Given the description of an element on the screen output the (x, y) to click on. 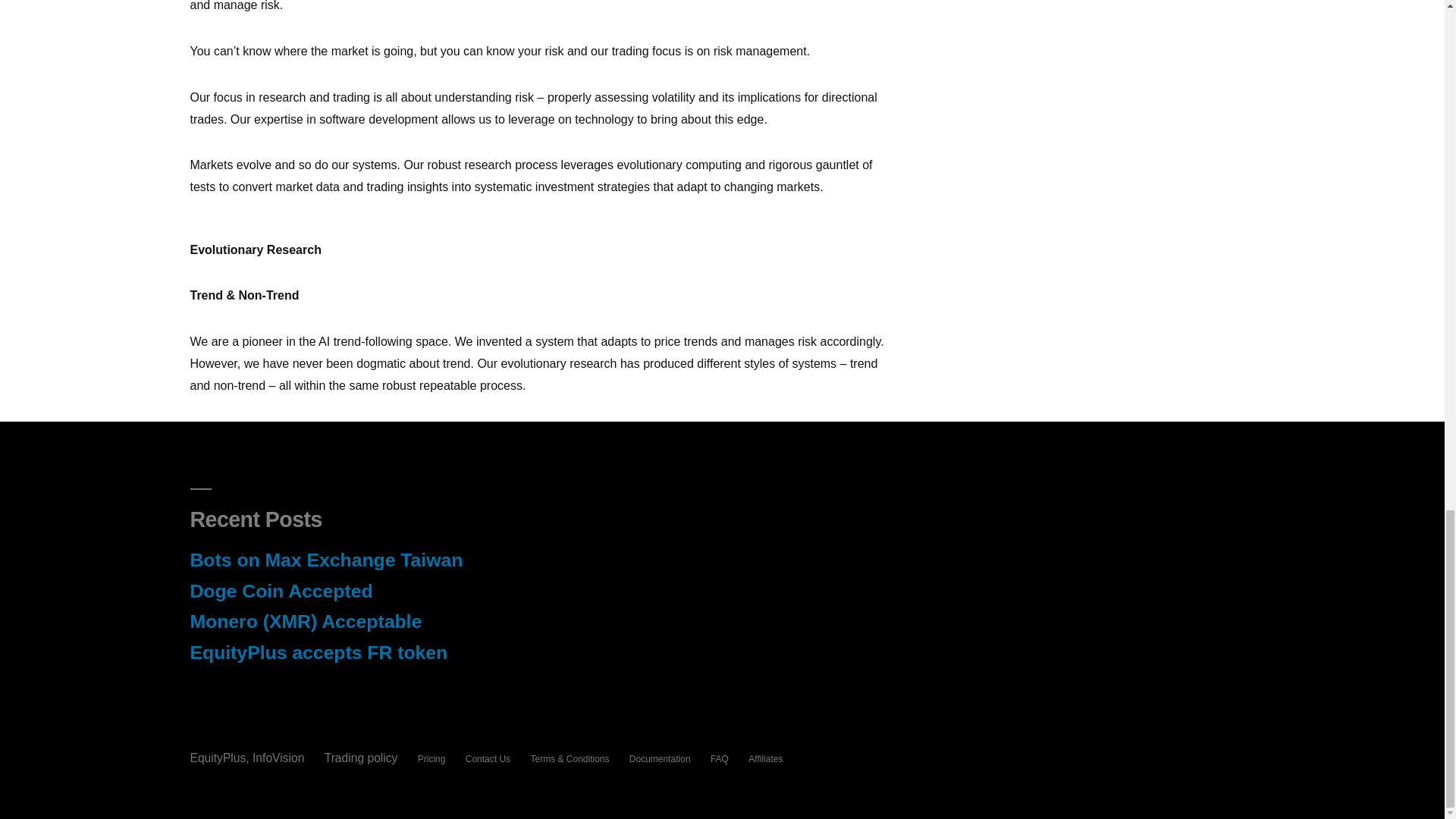
Pricing (431, 758)
Affiliates (765, 758)
Bots on Max Exchange Taiwan (326, 559)
EquityPlus (217, 757)
Trading policy (360, 757)
Documentation (659, 758)
FAQ (719, 758)
Doge Coin Accepted (280, 590)
InfoVision (279, 757)
Contact Us (488, 758)
